Given the description of an element on the screen output the (x, y) to click on. 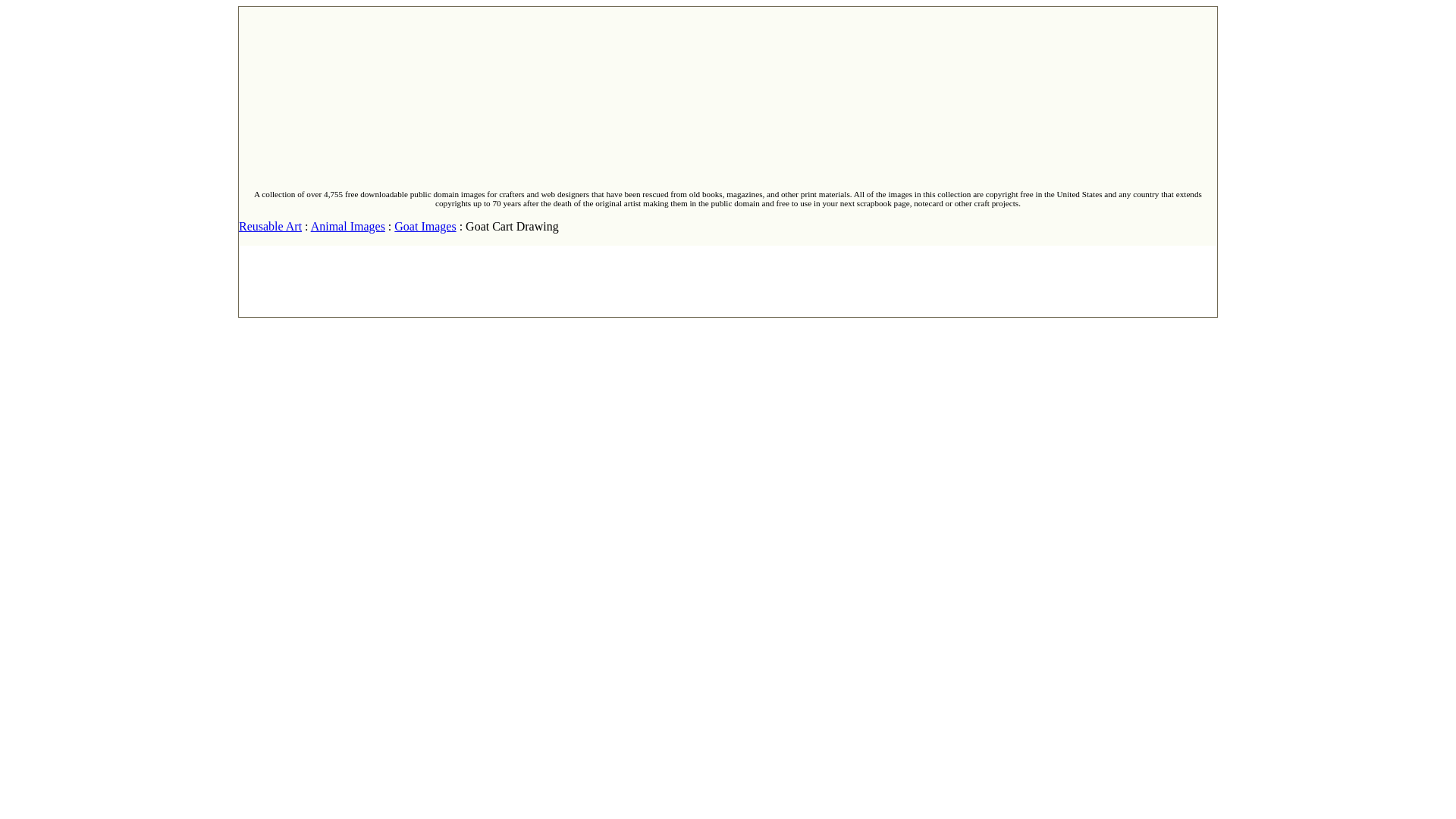
Reusable Art (269, 226)
Goat Images (424, 226)
Animal Images (348, 226)
